Given the description of an element on the screen output the (x, y) to click on. 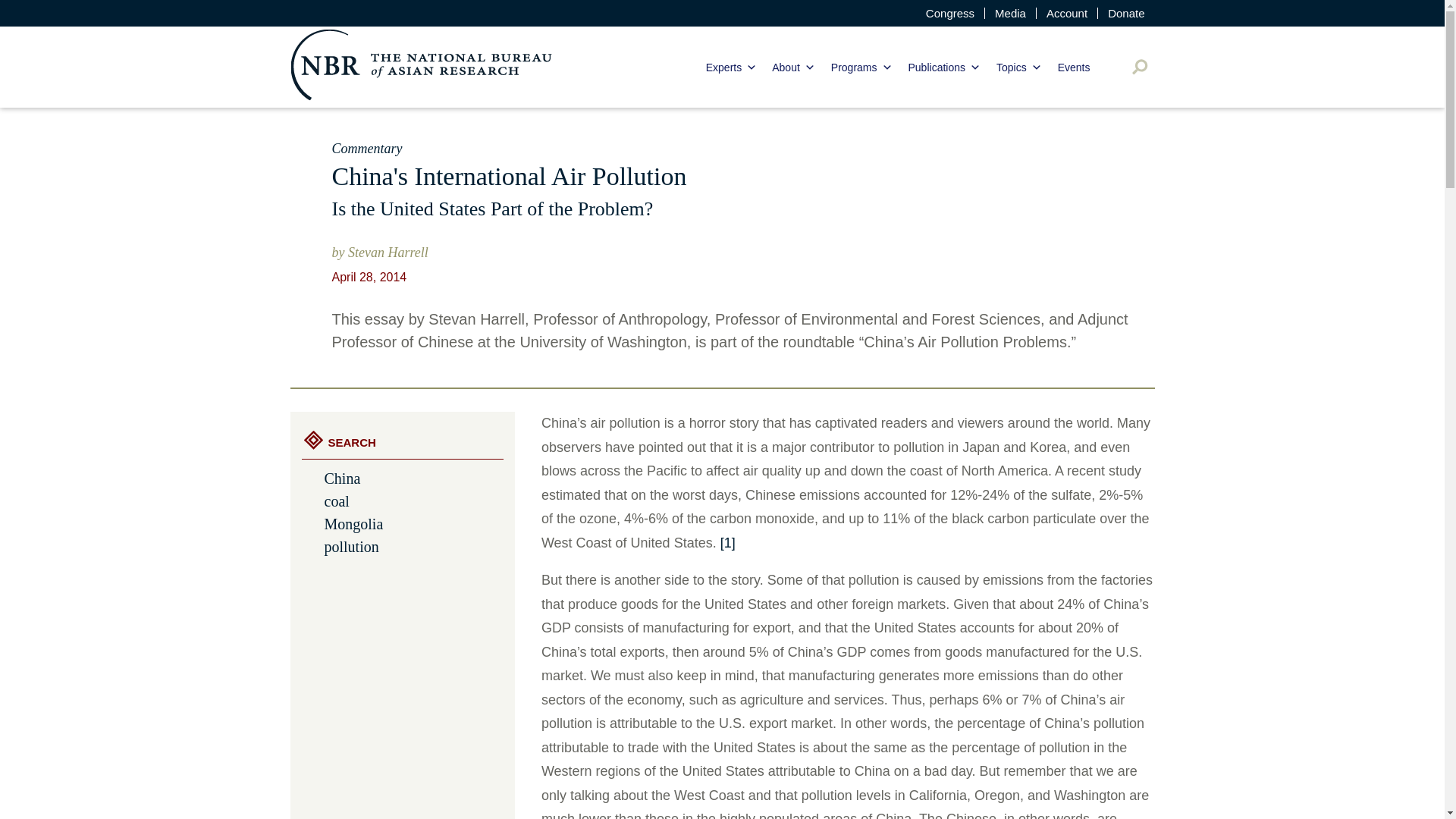
Media (1010, 12)
Donate (1125, 12)
Programs (861, 66)
Congress (949, 12)
Experts (731, 66)
About (793, 66)
Account (1066, 12)
